Given the description of an element on the screen output the (x, y) to click on. 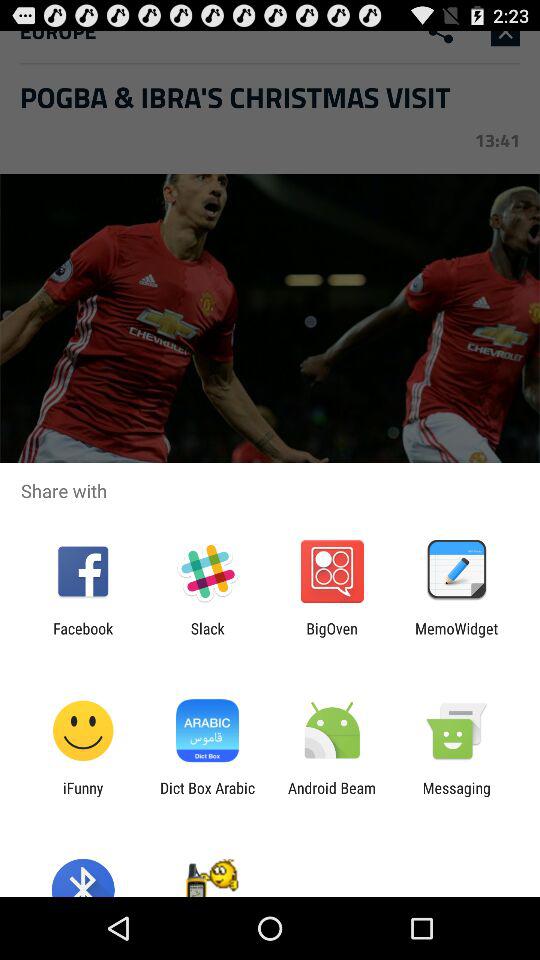
turn on the icon next to dict box arabic app (83, 796)
